Given the description of an element on the screen output the (x, y) to click on. 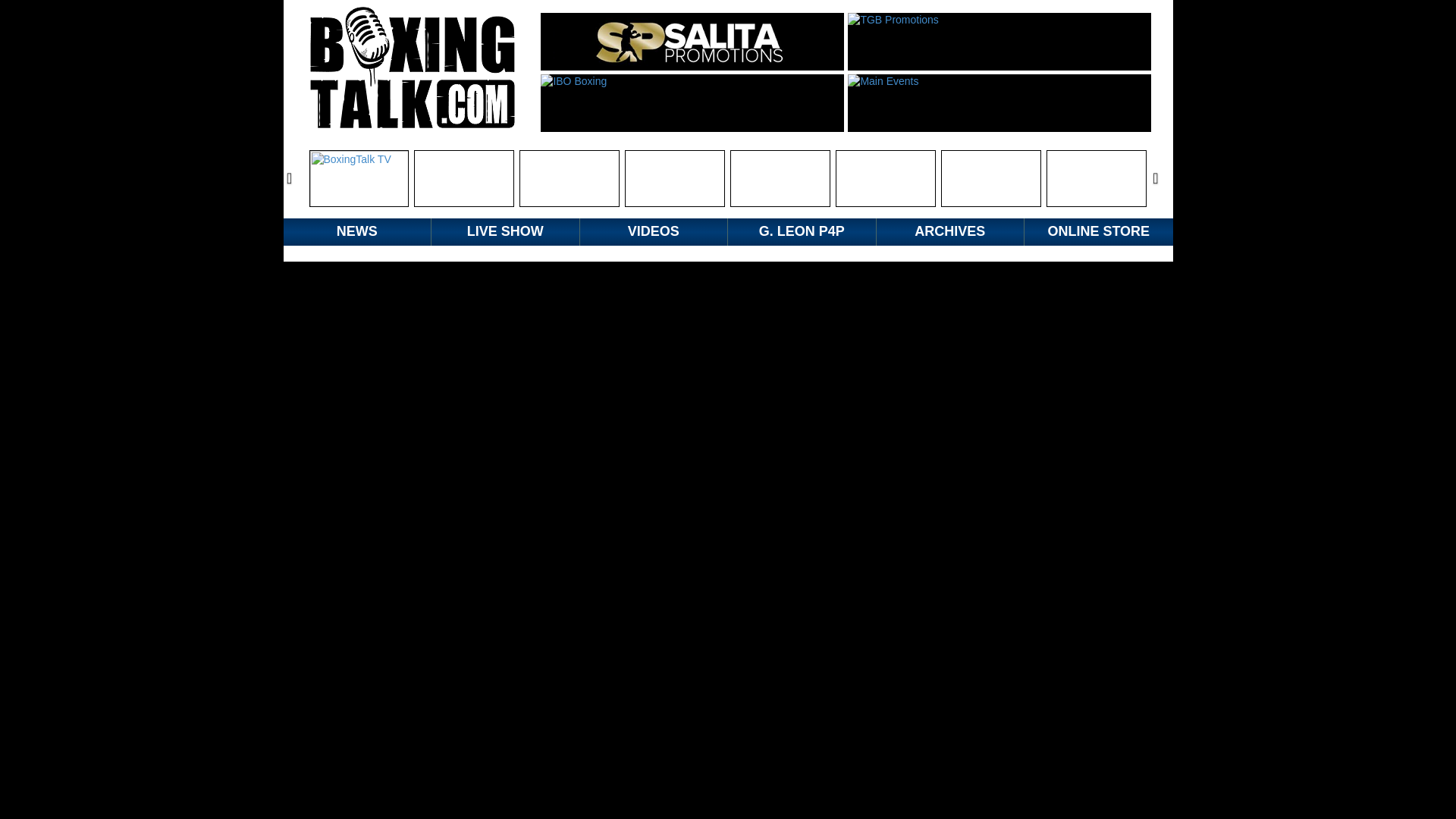
TGB Promotions (999, 41)
IBO Boxing (692, 102)
BoxingTalk TV (358, 178)
Main Events (999, 102)
Salita Promotions (692, 41)
